Given the description of an element on the screen output the (x, y) to click on. 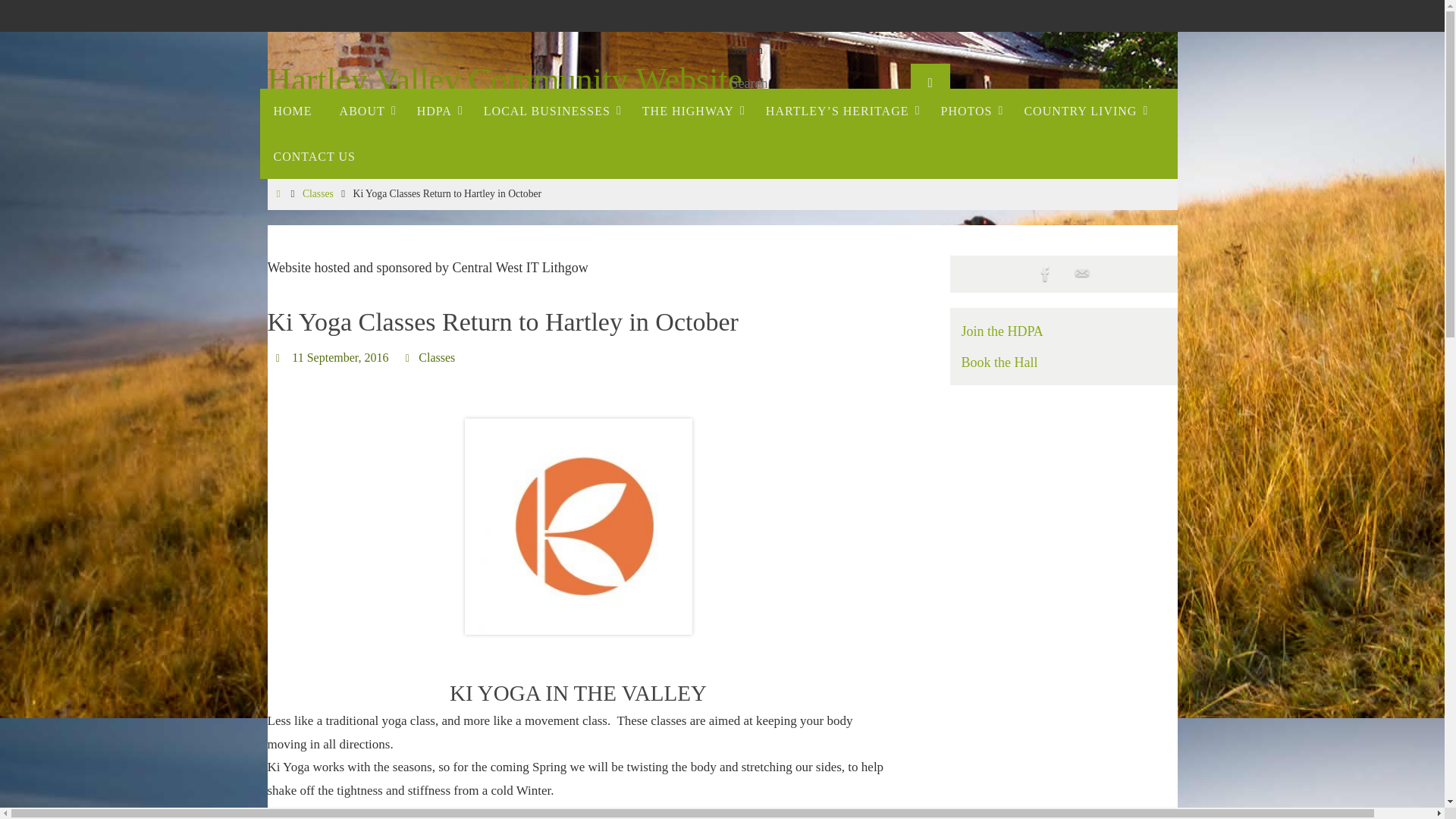
ABOUT (364, 111)
HDPA (436, 111)
Facebook-HDPA (1044, 274)
HOME (291, 111)
Categories (408, 357)
Hartley Valley Community Website (504, 80)
HDPA email address (1081, 274)
Hartley Valley Community Website (748, 91)
THE HIGHWAY (690, 111)
Search (929, 83)
